Given the description of an element on the screen output the (x, y) to click on. 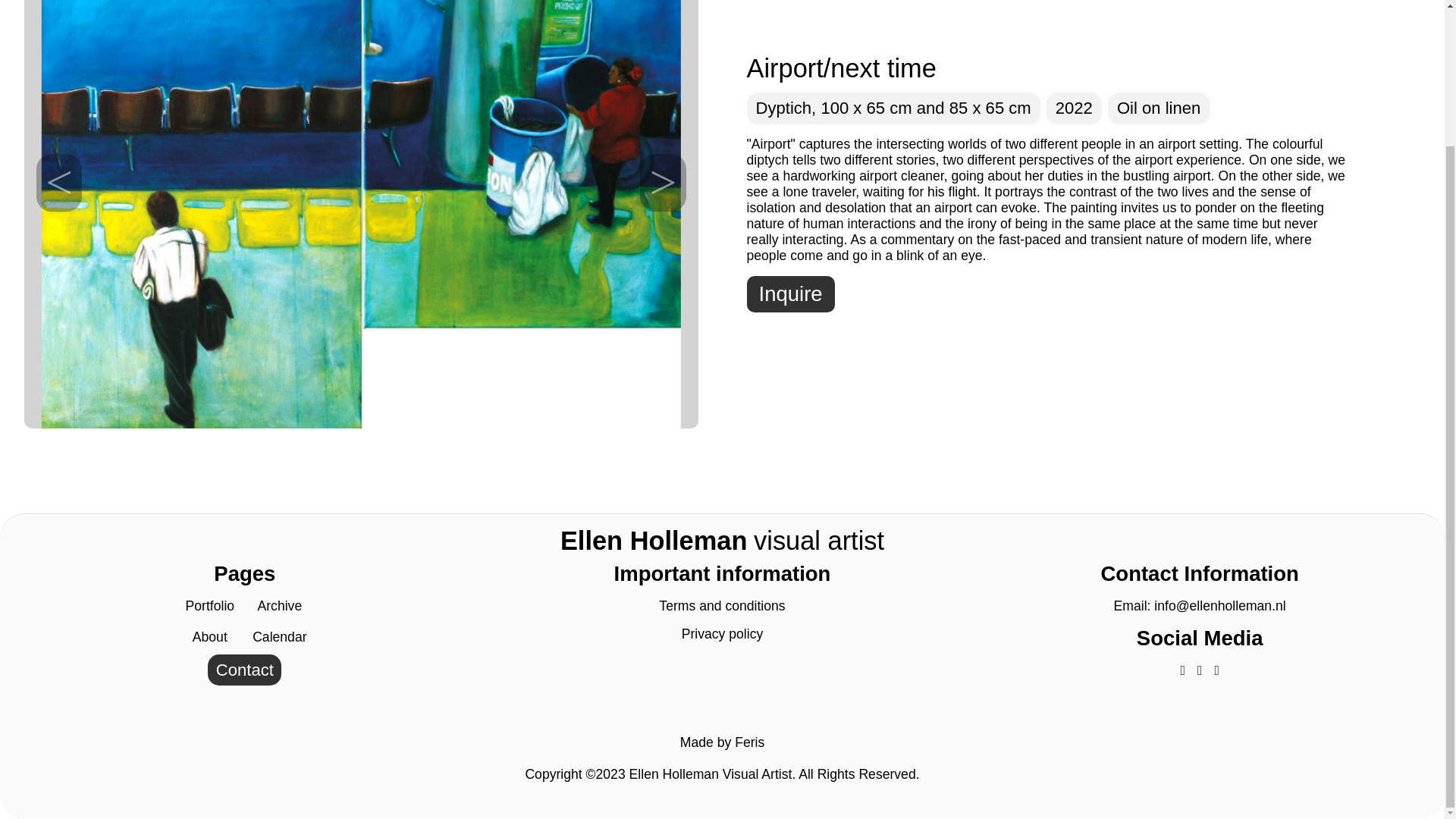
Calendar (278, 636)
Privacy policy (721, 633)
Portfolio (210, 605)
Inquire (789, 293)
Terms and conditions (721, 605)
Archive (279, 605)
Contact (244, 669)
Made by Feris (721, 749)
About (209, 636)
